Given the description of an element on the screen output the (x, y) to click on. 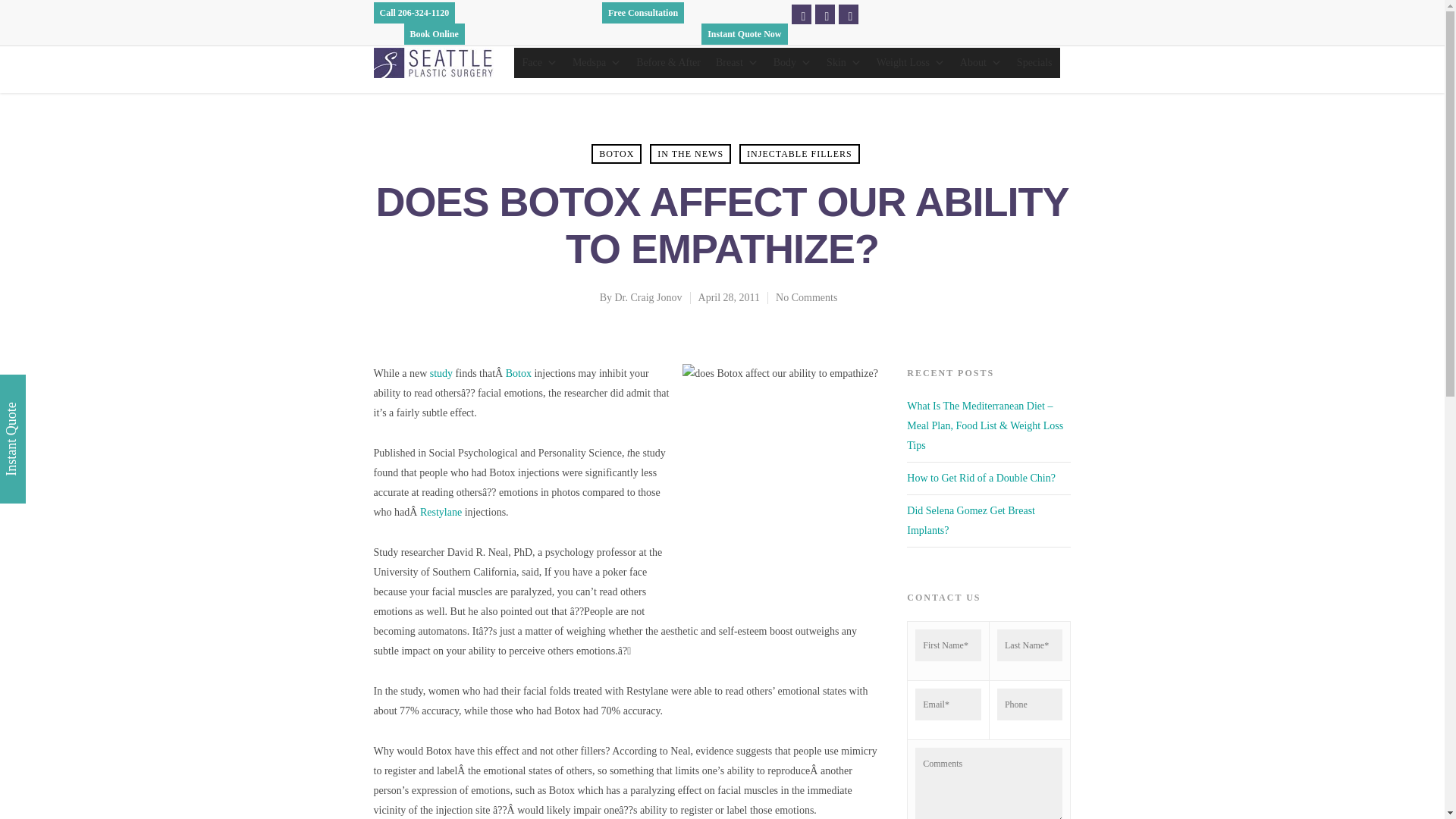
Book Online (433, 34)
Instant Quote Now (744, 34)
Call 206-324-1120 (413, 12)
Face (538, 62)
Free Consultation (643, 12)
Posts by Dr. Craig Jonov (647, 297)
